Given the description of an element on the screen output the (x, y) to click on. 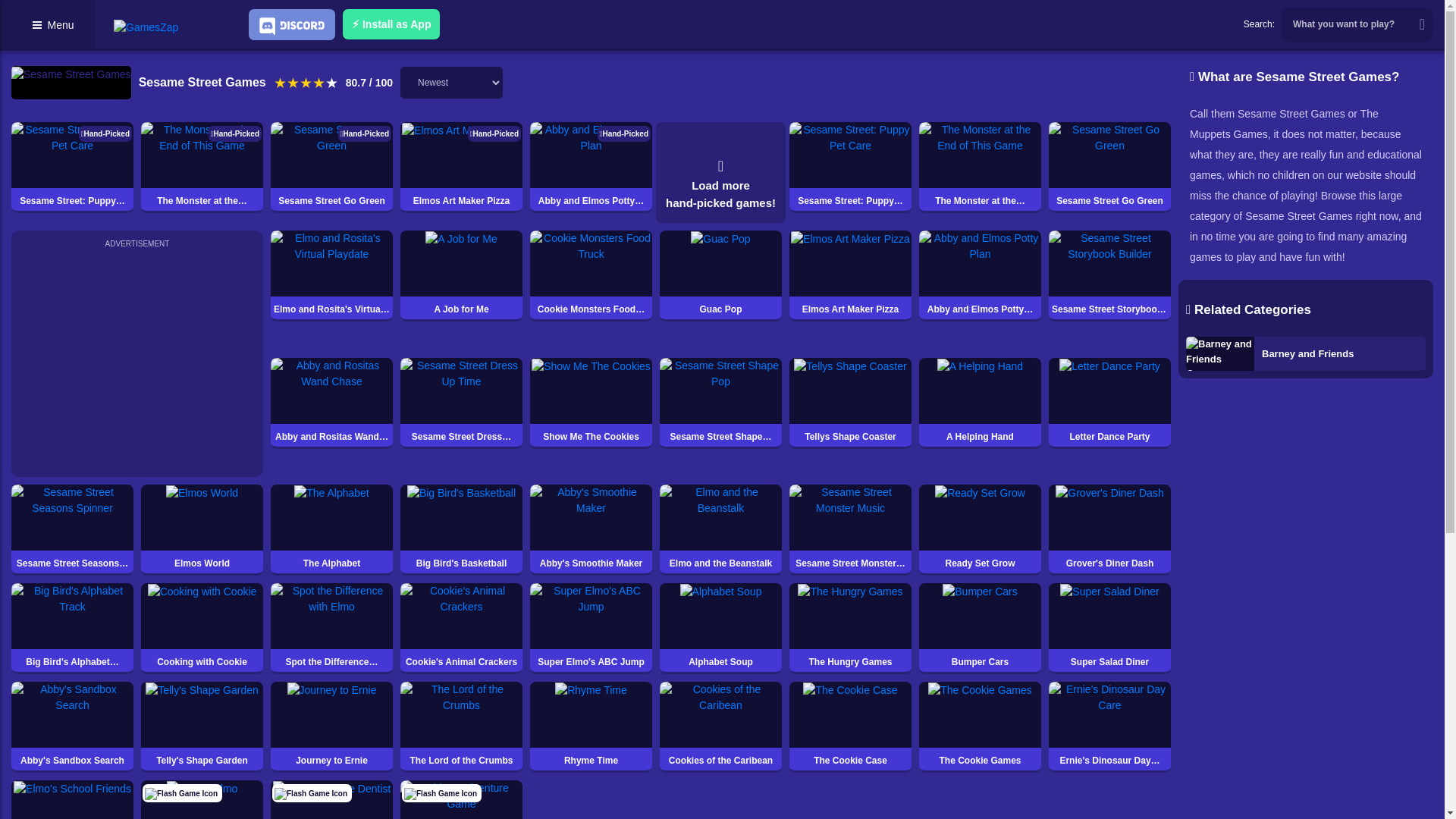
Sesame Street Go Green (1109, 167)
GamesZap (145, 26)
A Job for Me (461, 275)
Join our Discord (291, 24)
Install as App (390, 24)
Guac Pop (720, 275)
